Given the description of an element on the screen output the (x, y) to click on. 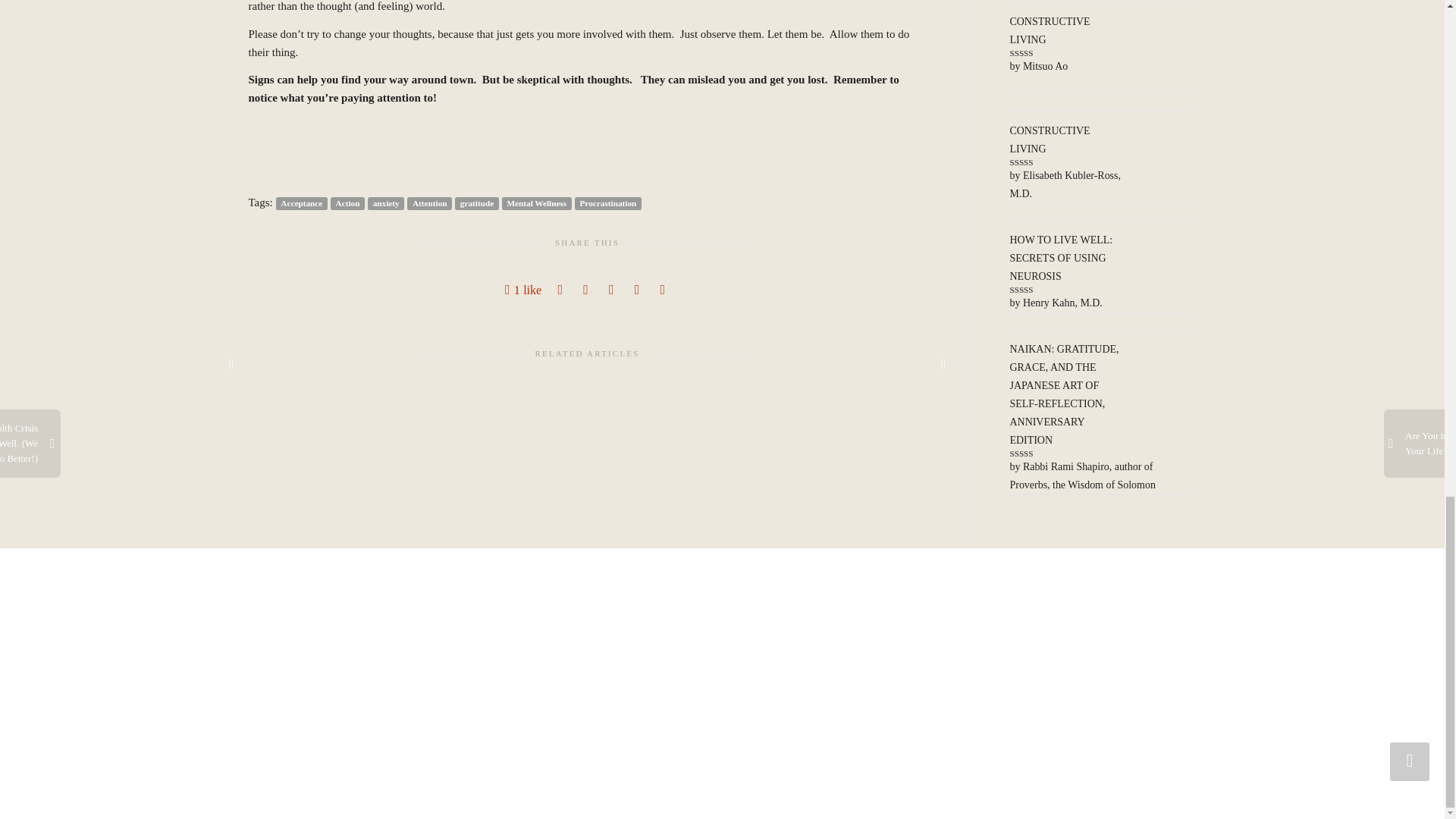
Action (347, 203)
Like this (523, 289)
Acceptance (301, 203)
